Given the description of an element on the screen output the (x, y) to click on. 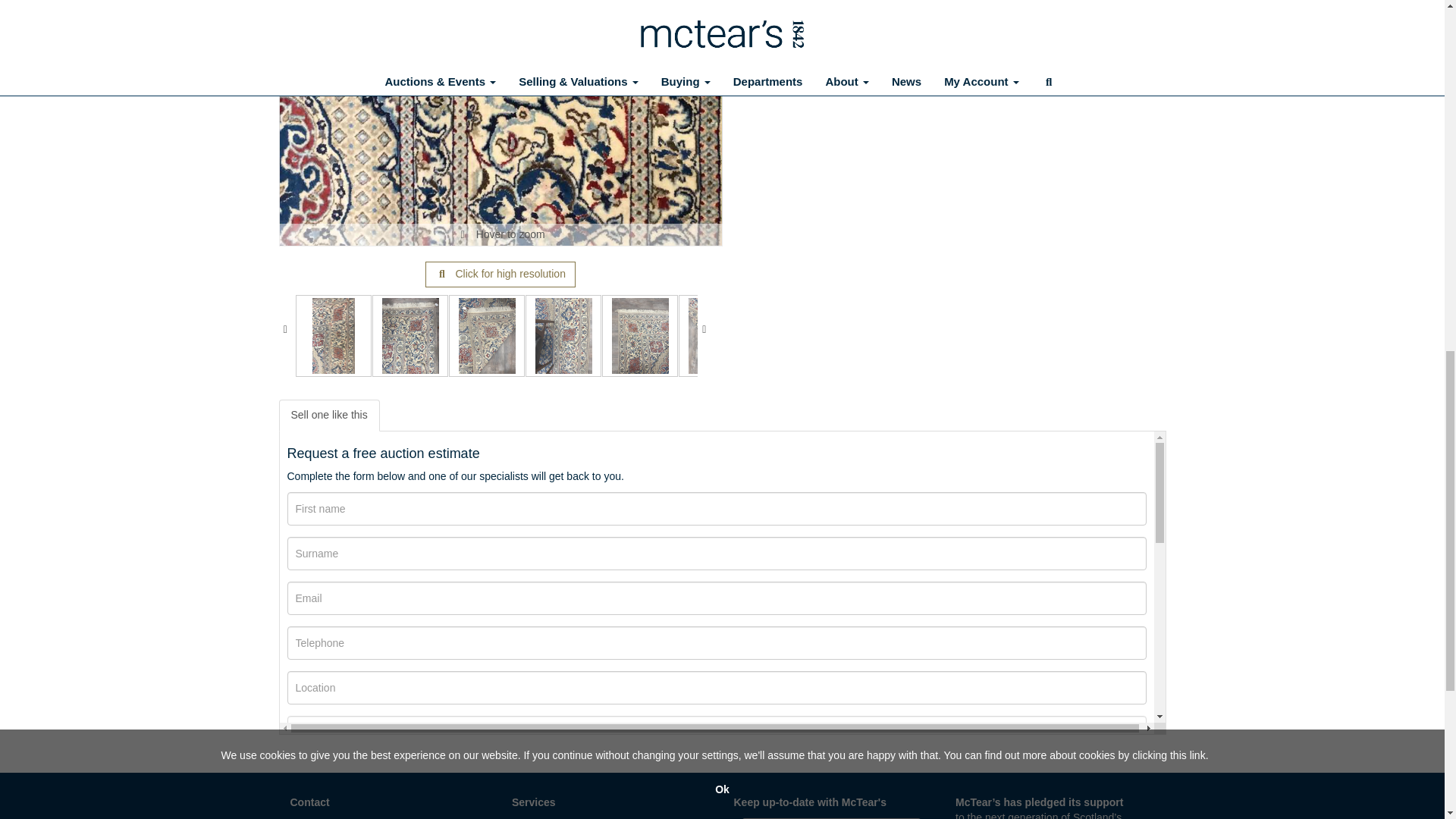
Click for high resolution (500, 274)
